Given the description of an element on the screen output the (x, y) to click on. 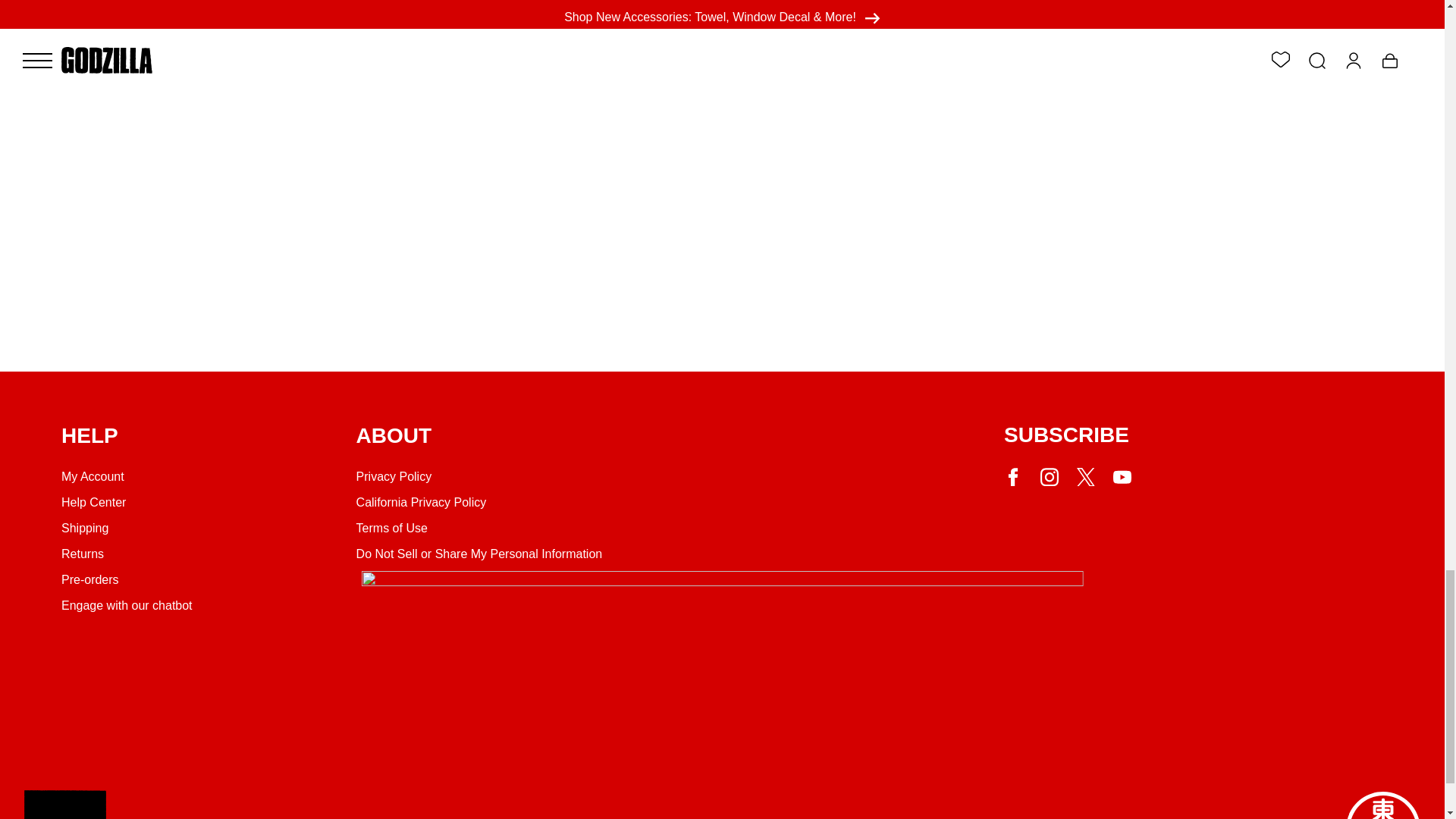
Twitter (1085, 476)
Youtube (1122, 476)
Instagram (1049, 476)
Facebook (1013, 476)
